Given the description of an element on the screen output the (x, y) to click on. 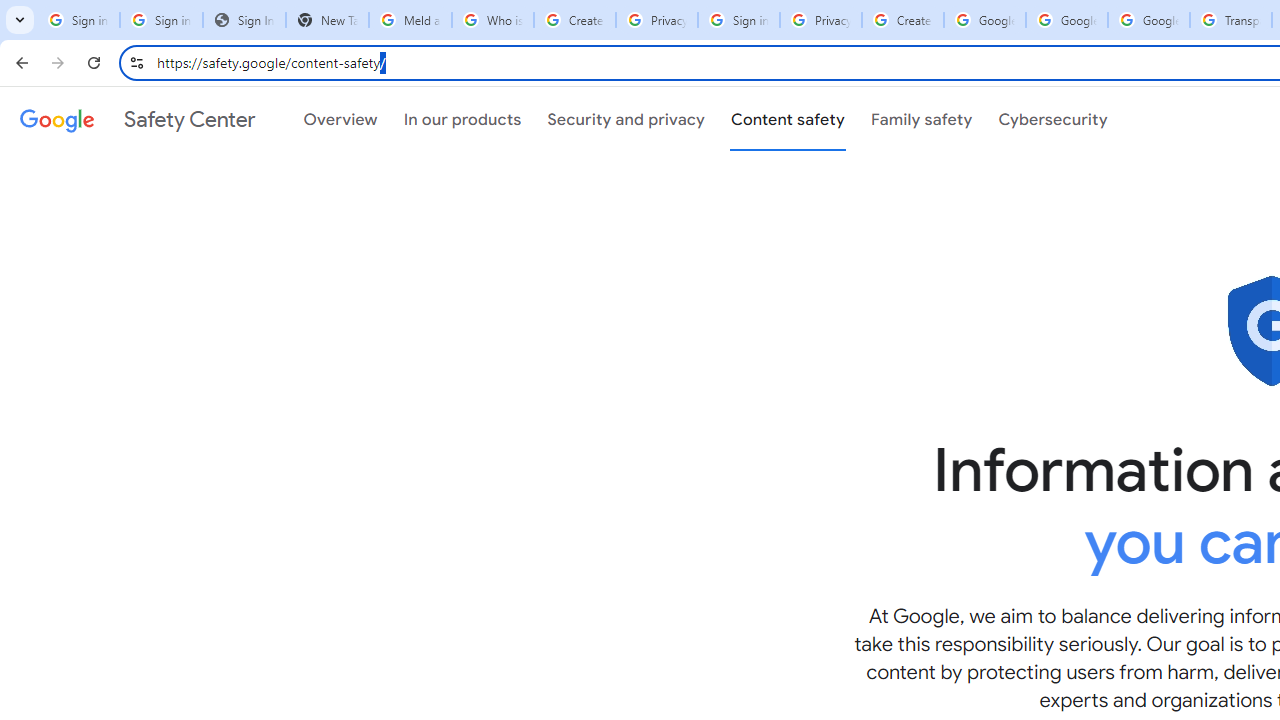
Who is my administrator? - Google Account Help (492, 20)
Overview (340, 119)
Create your Google Account (902, 20)
In our products (462, 119)
Safety Center (137, 119)
Create your Google Account (574, 20)
Google Account (1149, 20)
Sign in - Google Accounts (78, 20)
